Given the description of an element on the screen output the (x, y) to click on. 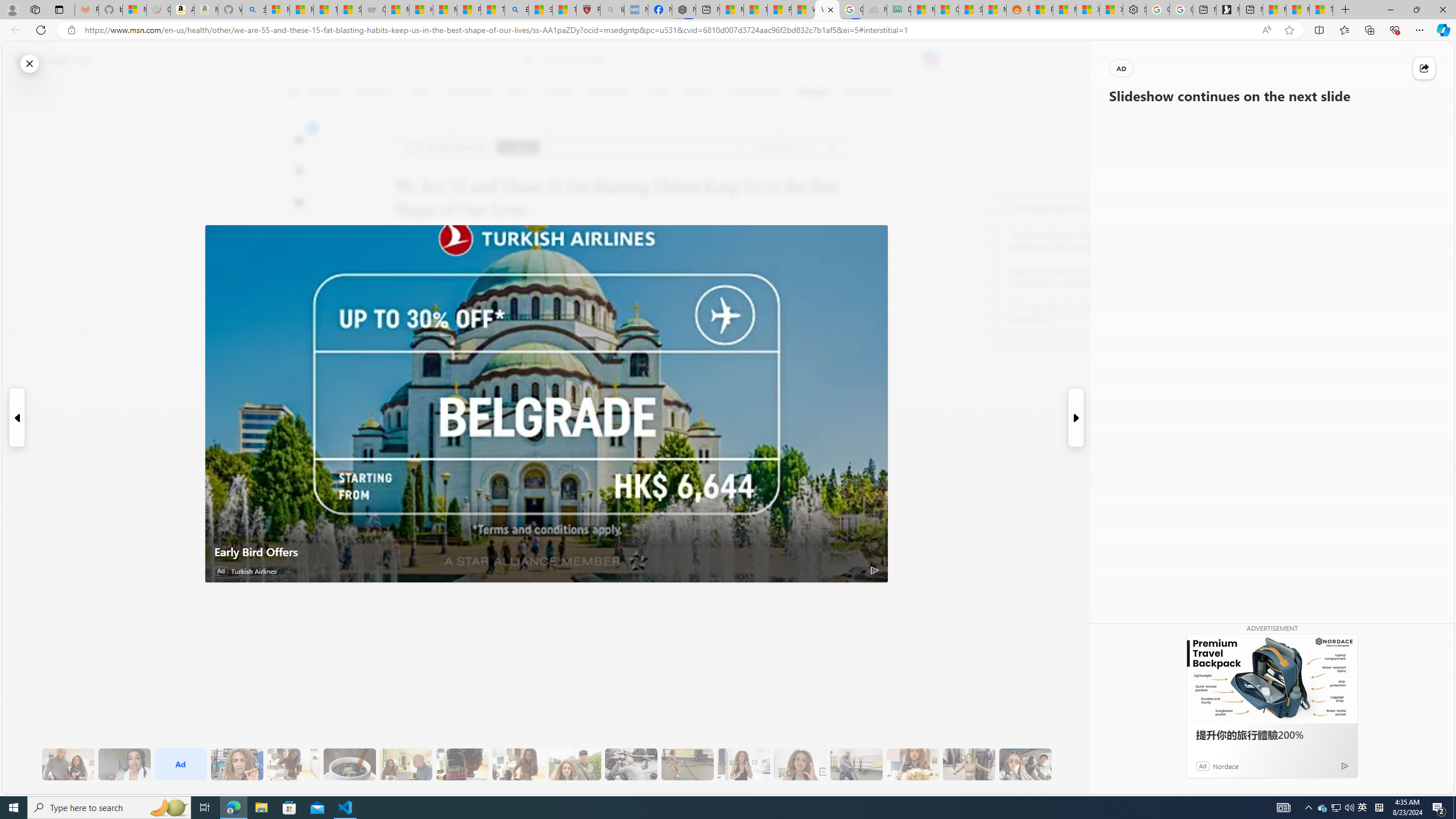
8 They Walk to the Gym (574, 764)
These 3 Stocks Pay You More Than 5% to Own Them (1321, 9)
9 They Do Bench Exercises (631, 764)
1 We Eat a Protein-Packed Pre-Workout Snack (124, 764)
14 They Have Salmon and Veggies for Dinner (912, 764)
